Given the description of an element on the screen output the (x, y) to click on. 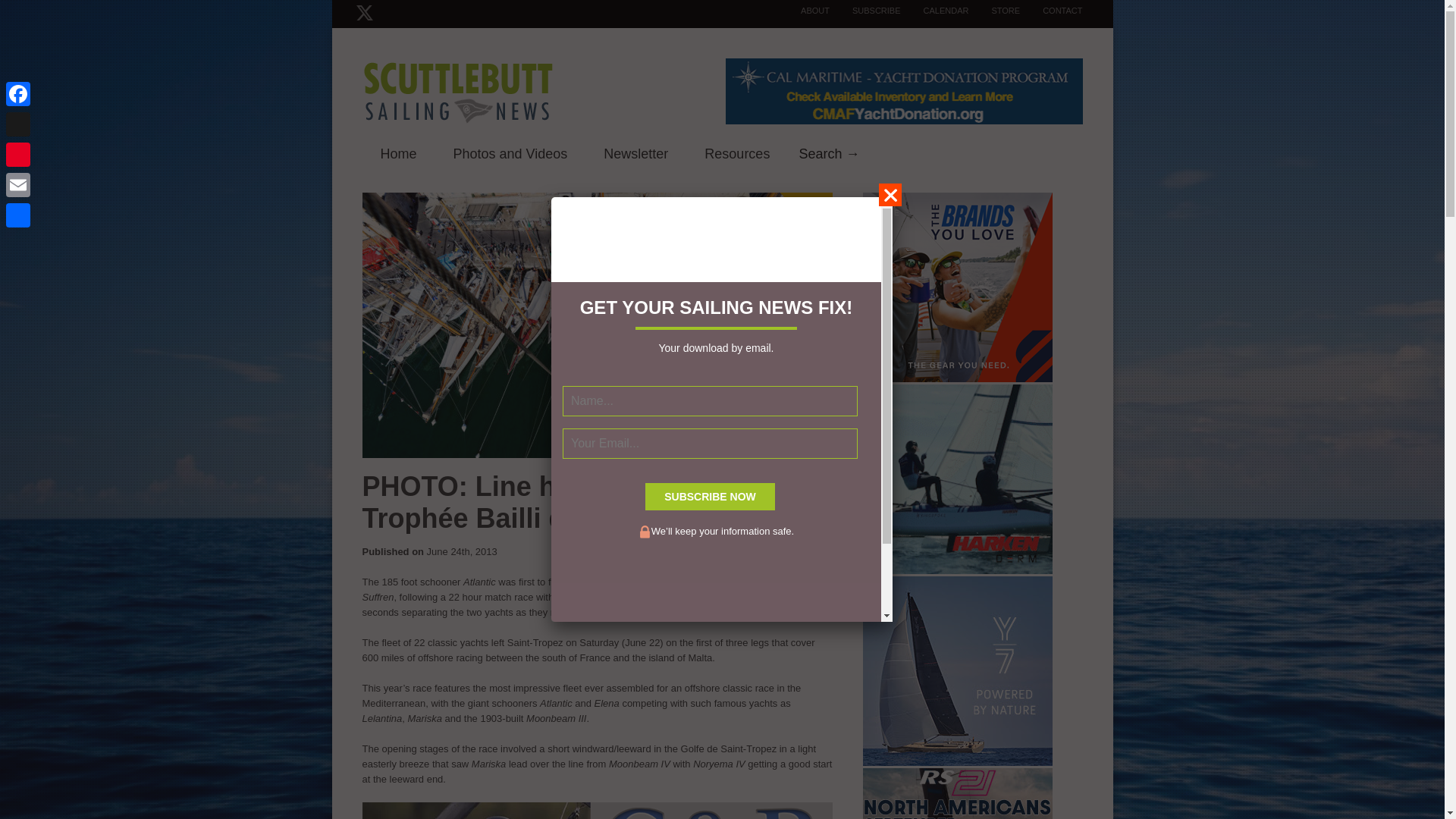
Home (398, 154)
STORE (994, 10)
ABOUT (803, 10)
CALENDAR (935, 10)
Subscribe NOW (709, 496)
Photo (828, 151)
SUBSCRIBE (865, 10)
Photos and Videos (510, 154)
Newsletter (635, 154)
Resources (736, 154)
CONTACT (1050, 10)
